Given the description of an element on the screen output the (x, y) to click on. 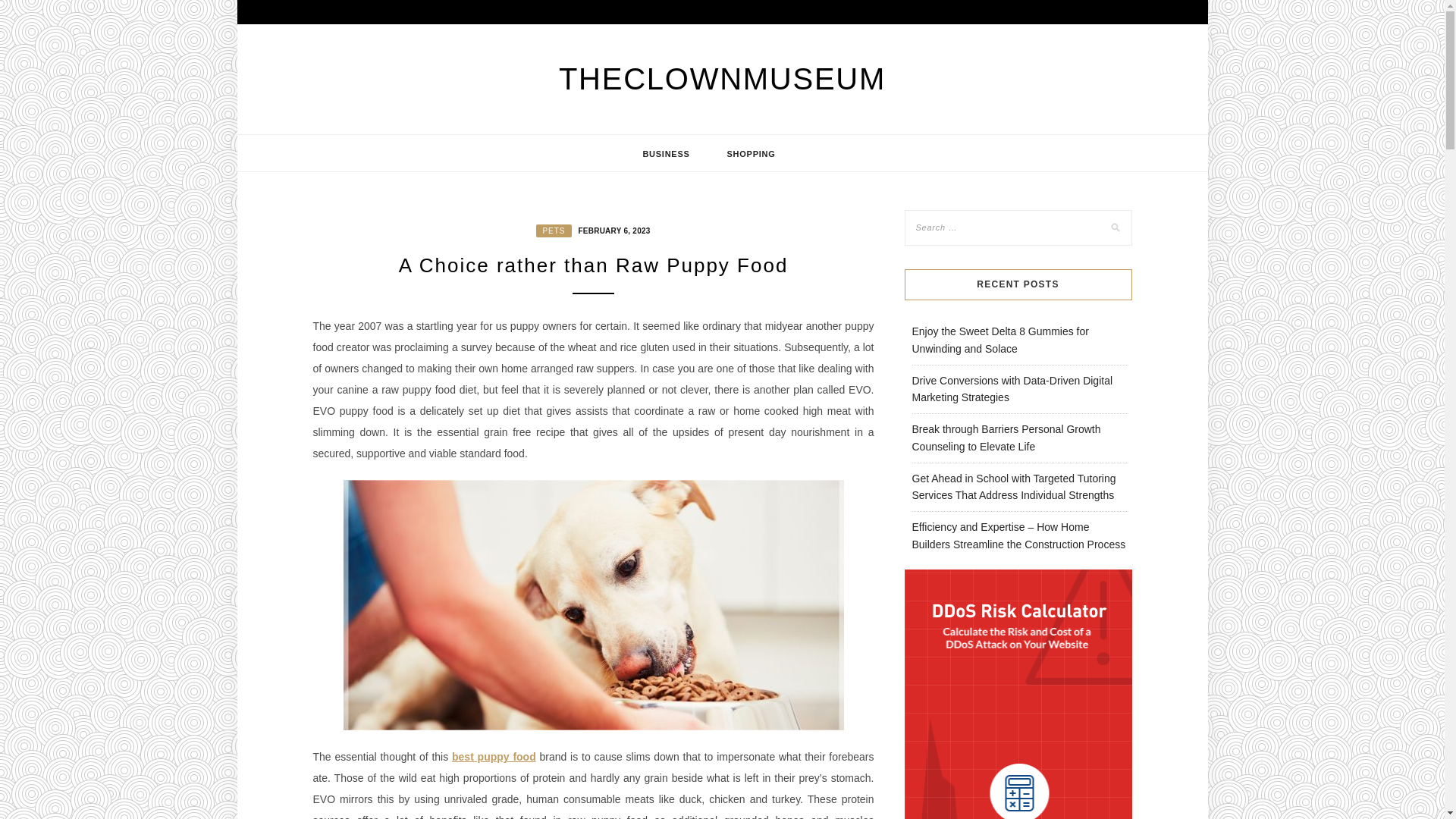
PETS (552, 230)
best puppy food (493, 756)
FEBRUARY 6, 2023 (611, 229)
SHOPPING (750, 153)
Enjoy the Sweet Delta 8 Gummies for Unwinding and Solace (999, 339)
Search (28, 11)
THECLOWNMUSEUM (722, 78)
BUSINESS (666, 153)
